Given the description of an element on the screen output the (x, y) to click on. 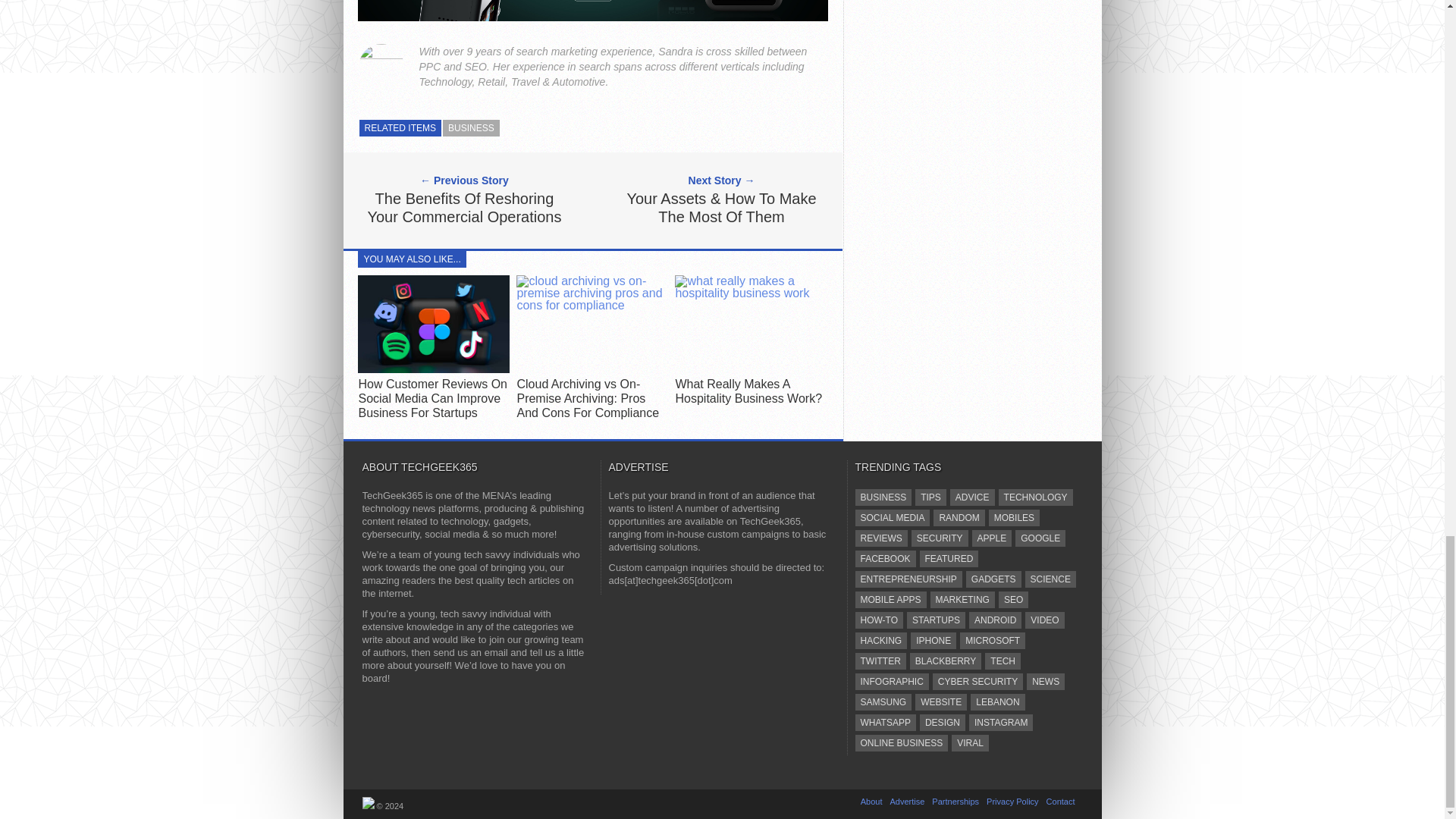
What Really Makes A Hospitality Business Work? (751, 292)
